Given the description of an element on the screen output the (x, y) to click on. 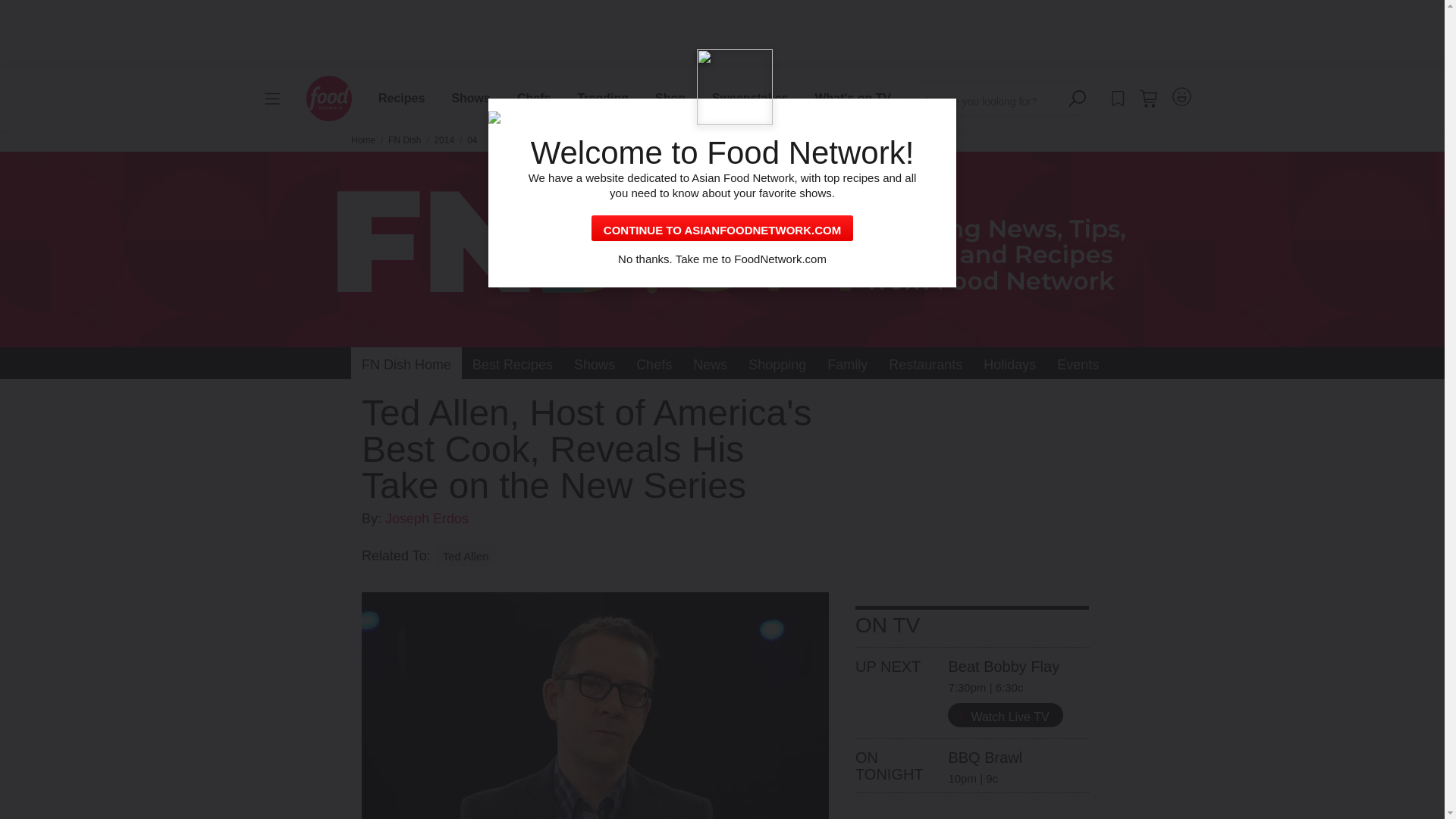
home (328, 98)
Recipes (401, 97)
Shows (470, 97)
